Given the description of an element on the screen output the (x, y) to click on. 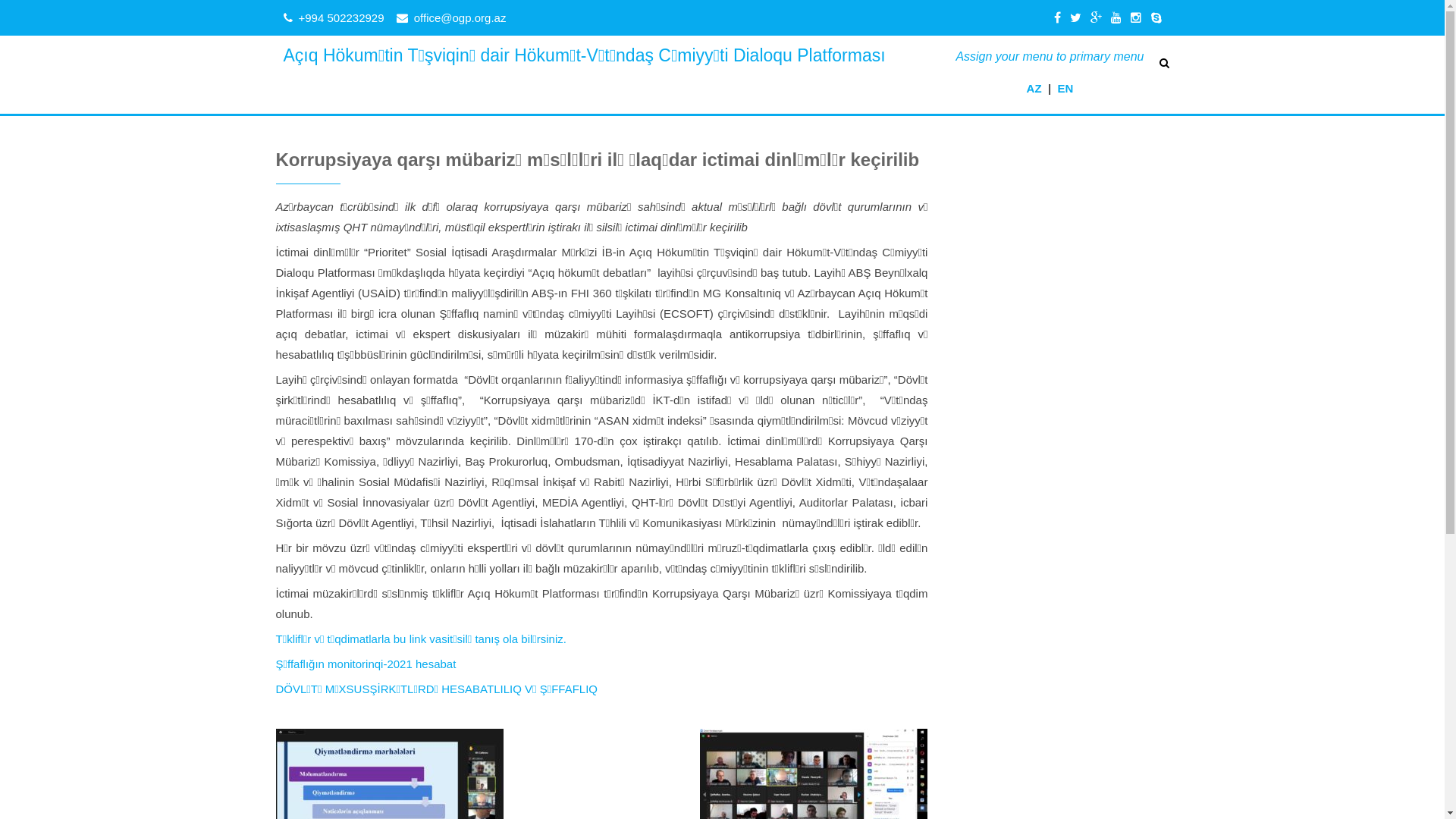
EN Element type: text (1065, 87)
Search Element type: text (33, 12)
Assign your menu to primary menu Element type: text (1049, 56)
+994 502232929 Element type: text (341, 17)
AZ Element type: text (1033, 87)
office@ogp.org.az Element type: text (460, 17)
